Given the description of an element on the screen output the (x, y) to click on. 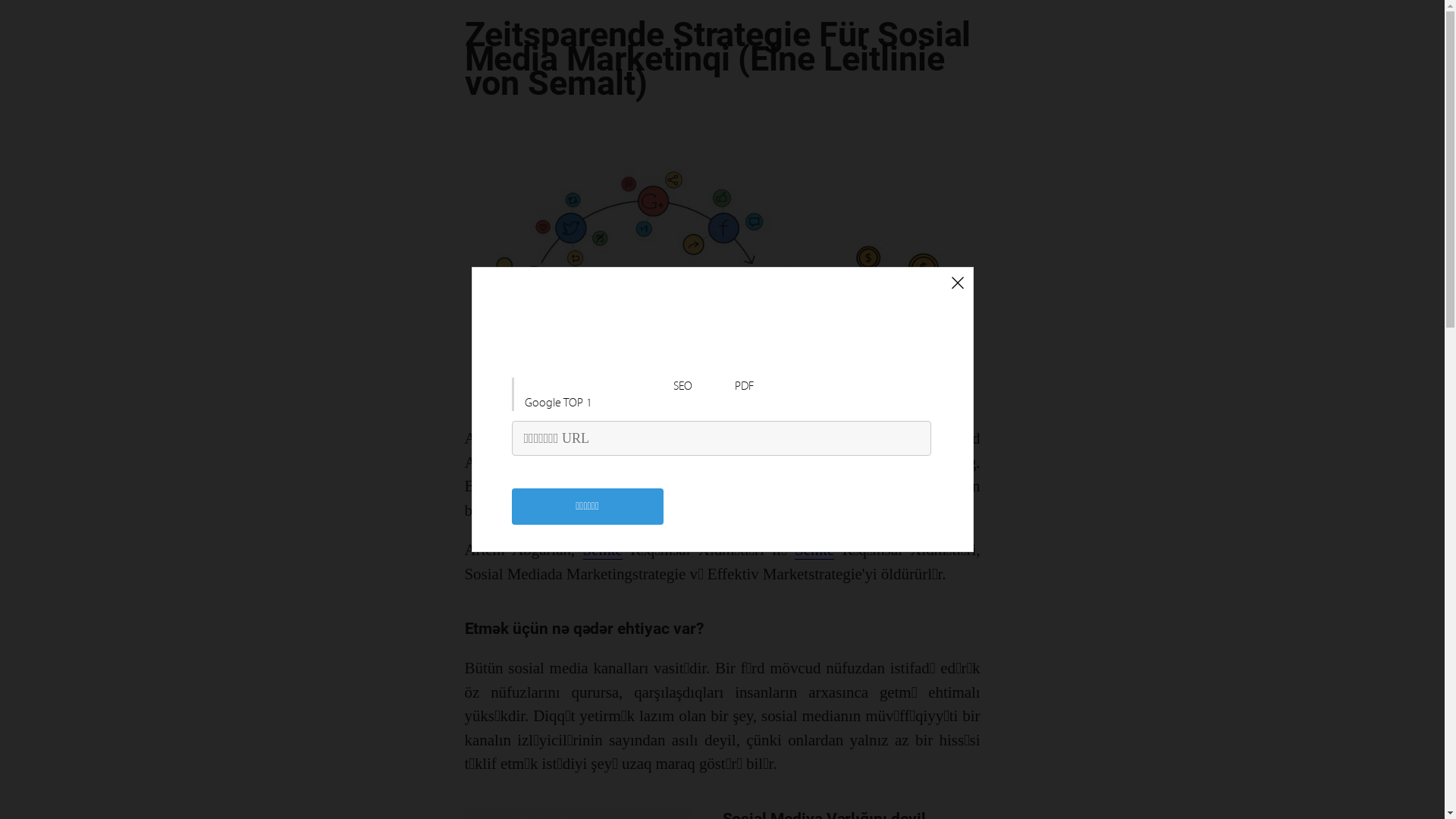
Semte Element type: text (602, 549)
Semte Element type: text (814, 549)
